Given the description of an element on the screen output the (x, y) to click on. 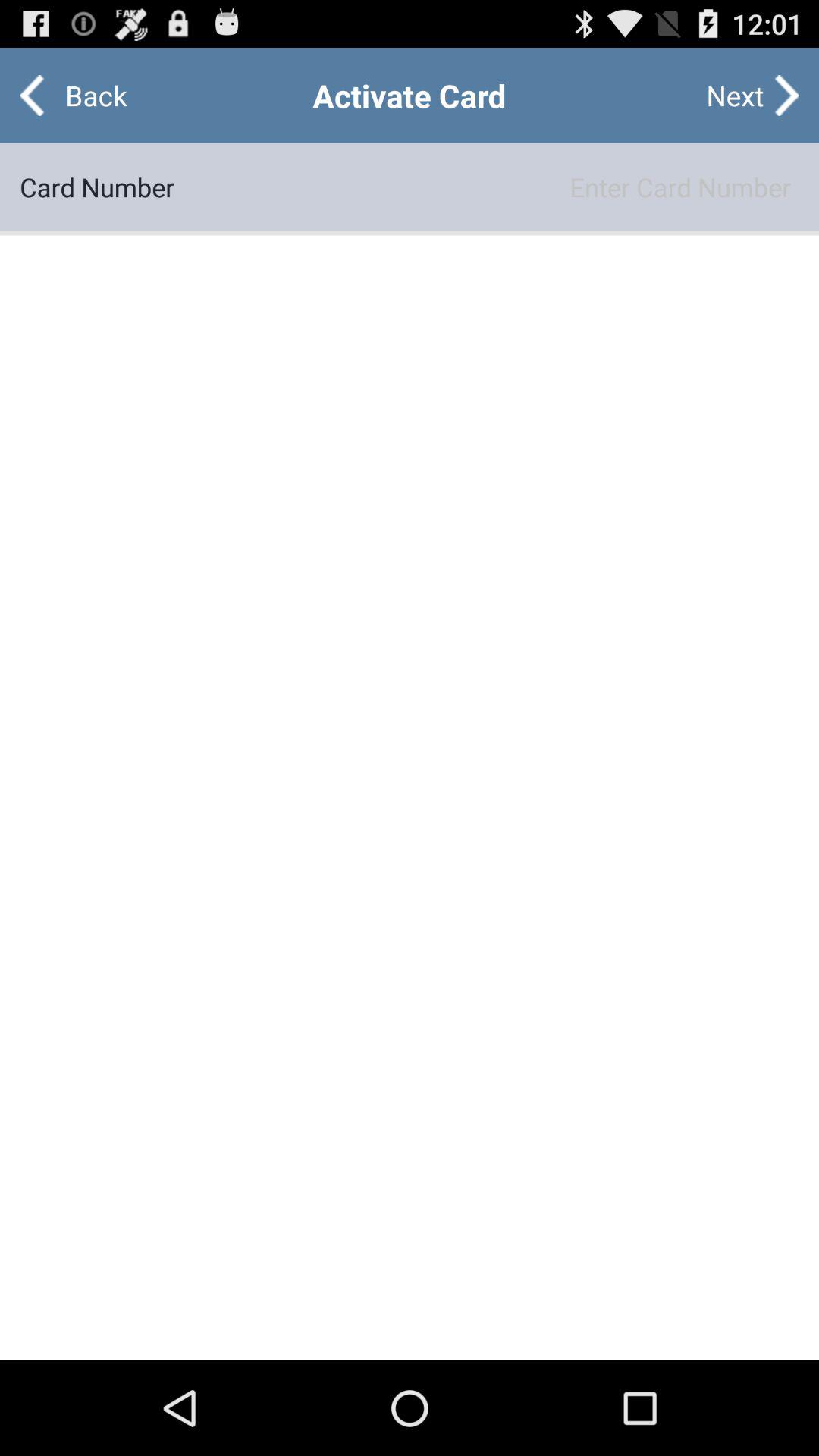
turn on the button at the top right corner (735, 95)
